Given the description of an element on the screen output the (x, y) to click on. 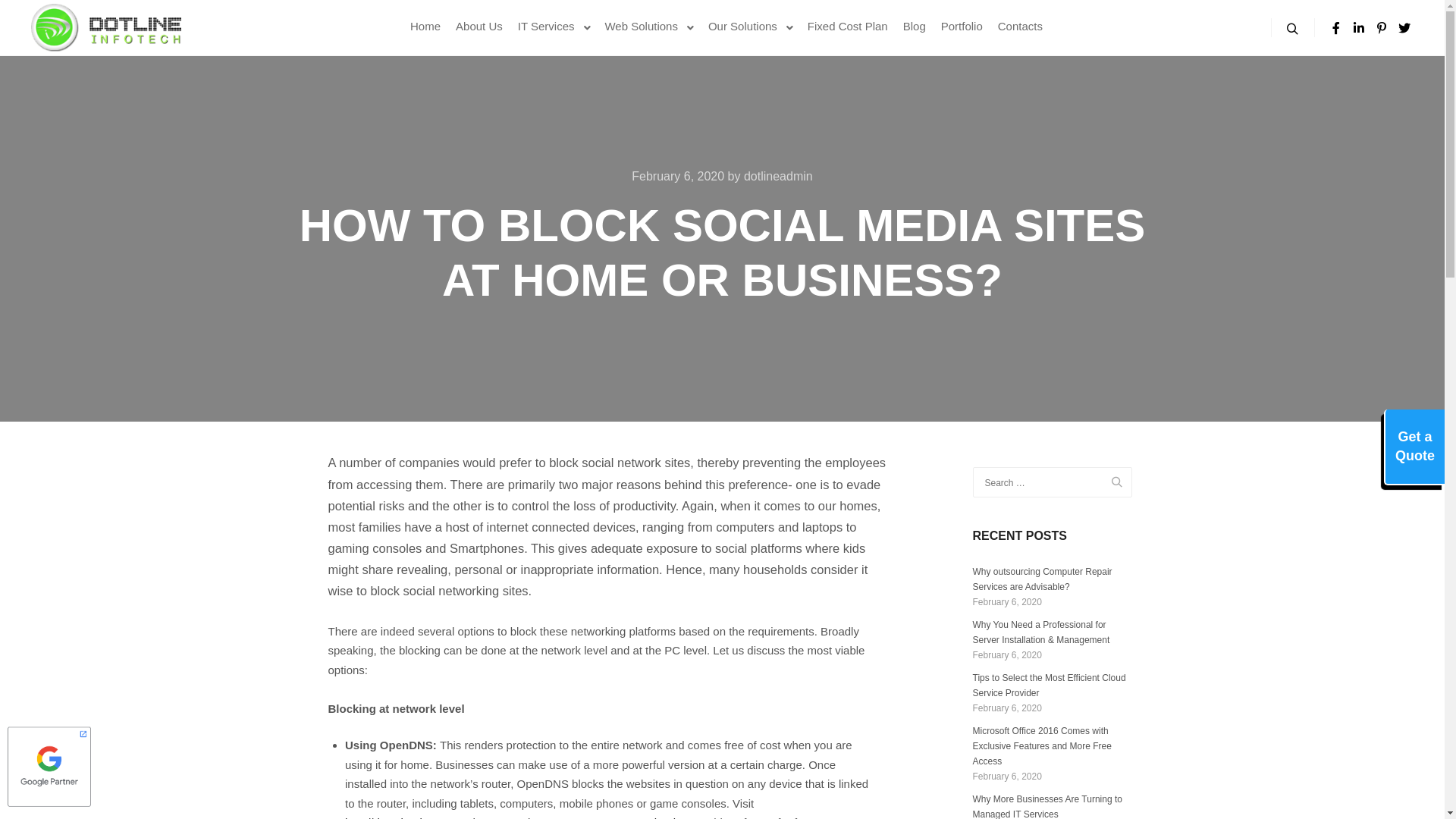
dotlineadmin Element type: text (777, 175)
Contacts Element type: text (1020, 25)
IT Services Element type: text (543, 25)
Fixed Cost Plan Element type: text (847, 25)
Blog Element type: text (914, 25)
Why outsourcing Computer Repair Services are Advisable? Element type: text (1041, 579)
Our Solutions Element type: text (740, 25)
Portfolio Element type: text (961, 25)
Search Element type: text (1108, 482)
Web Solutions Element type: text (638, 25)
Search Element type: hover (1292, 27)
About Us Element type: text (479, 25)
Home Element type: text (425, 25)
More info Element type: hover (1413, 447)
Tips to Select the Most Efficient Cloud Service Provider Element type: text (1048, 685)
Send Element type: text (1389, 453)
